Given the description of an element on the screen output the (x, y) to click on. 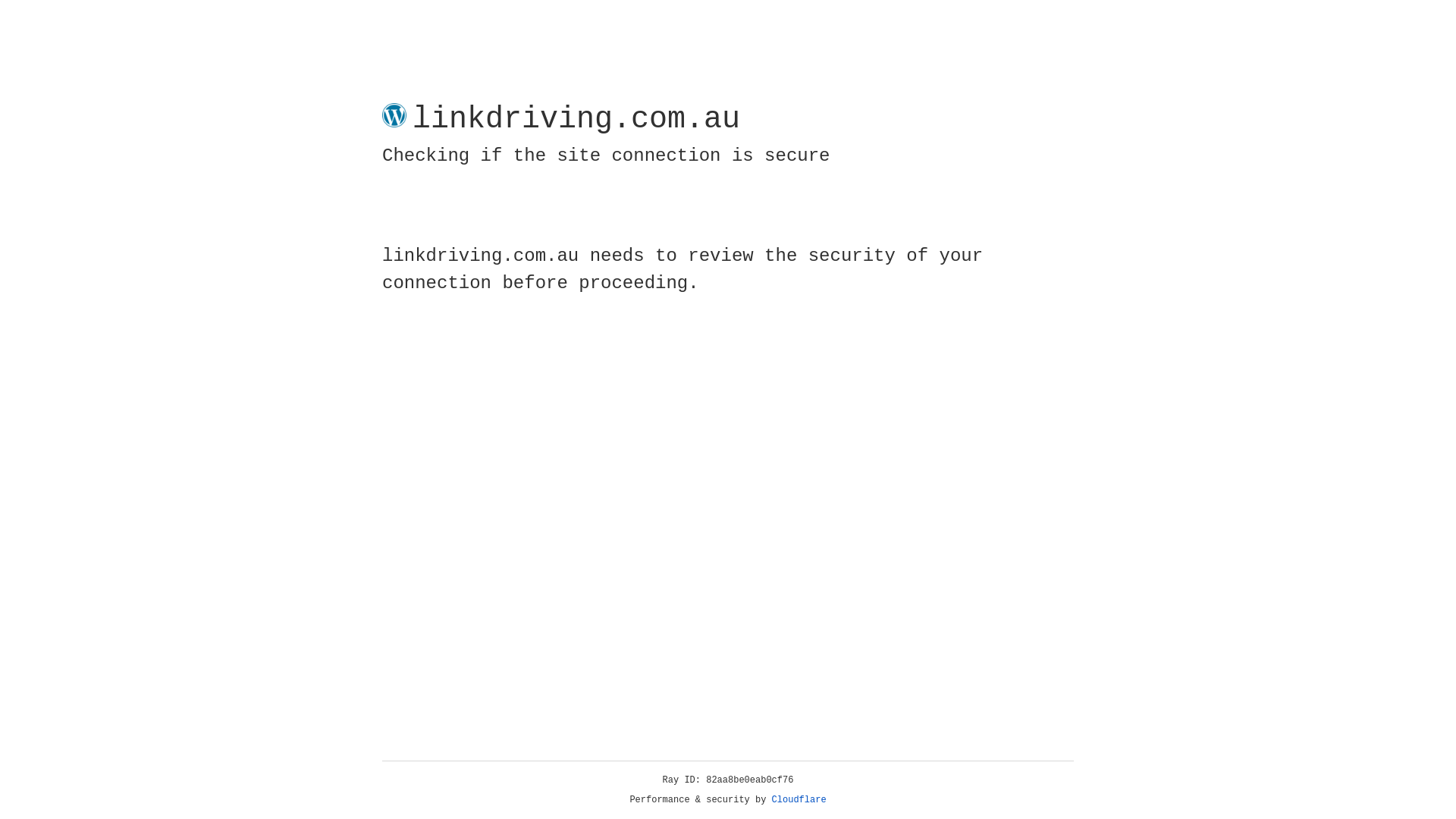
Cloudflare Element type: text (798, 799)
